Given the description of an element on the screen output the (x, y) to click on. 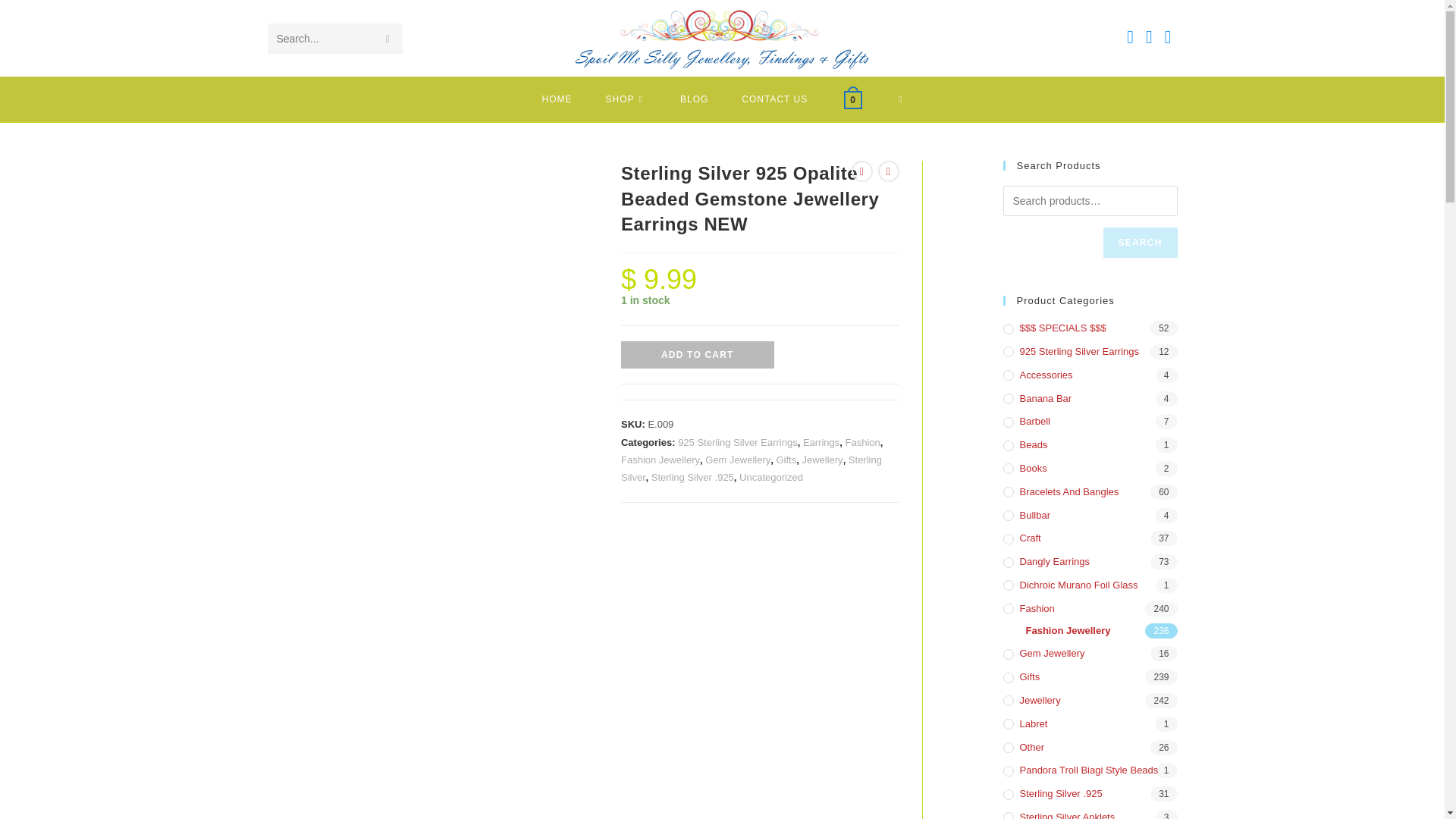
Submit search (386, 38)
HOME (557, 99)
SHOP (626, 99)
